Given the description of an element on the screen output the (x, y) to click on. 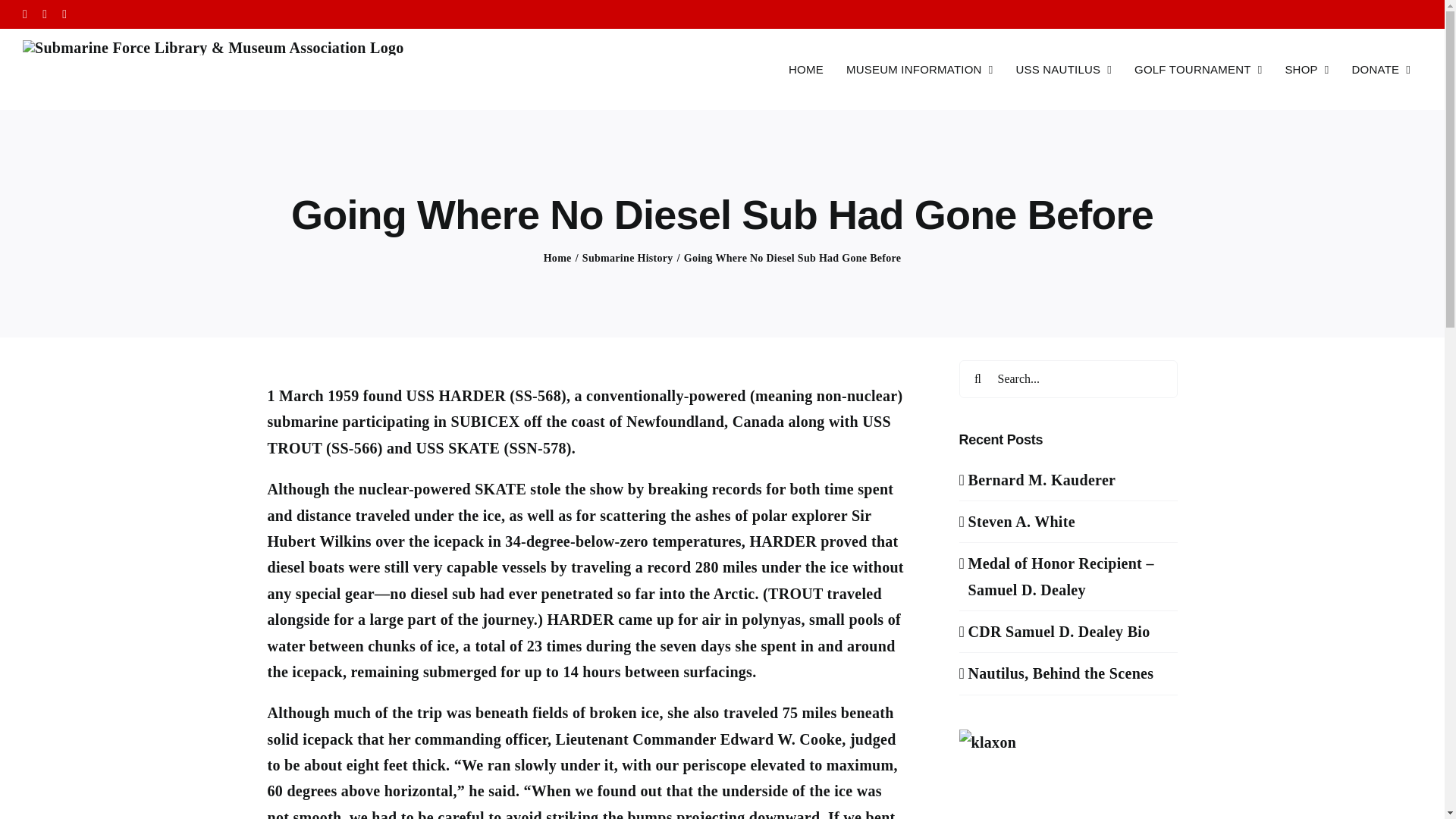
Instagram (64, 14)
HOME (805, 68)
Facebook (25, 14)
Yelp (44, 14)
MUSEUM INFORMATION (919, 68)
SHOP (1305, 68)
Instagram (64, 14)
Yelp (44, 14)
GOLF TOURNAMENT (1197, 68)
Home (557, 257)
USS NAUTILUS (1063, 68)
Submarine History (627, 257)
DONATE (1381, 68)
Facebook (25, 14)
